Given the description of an element on the screen output the (x, y) to click on. 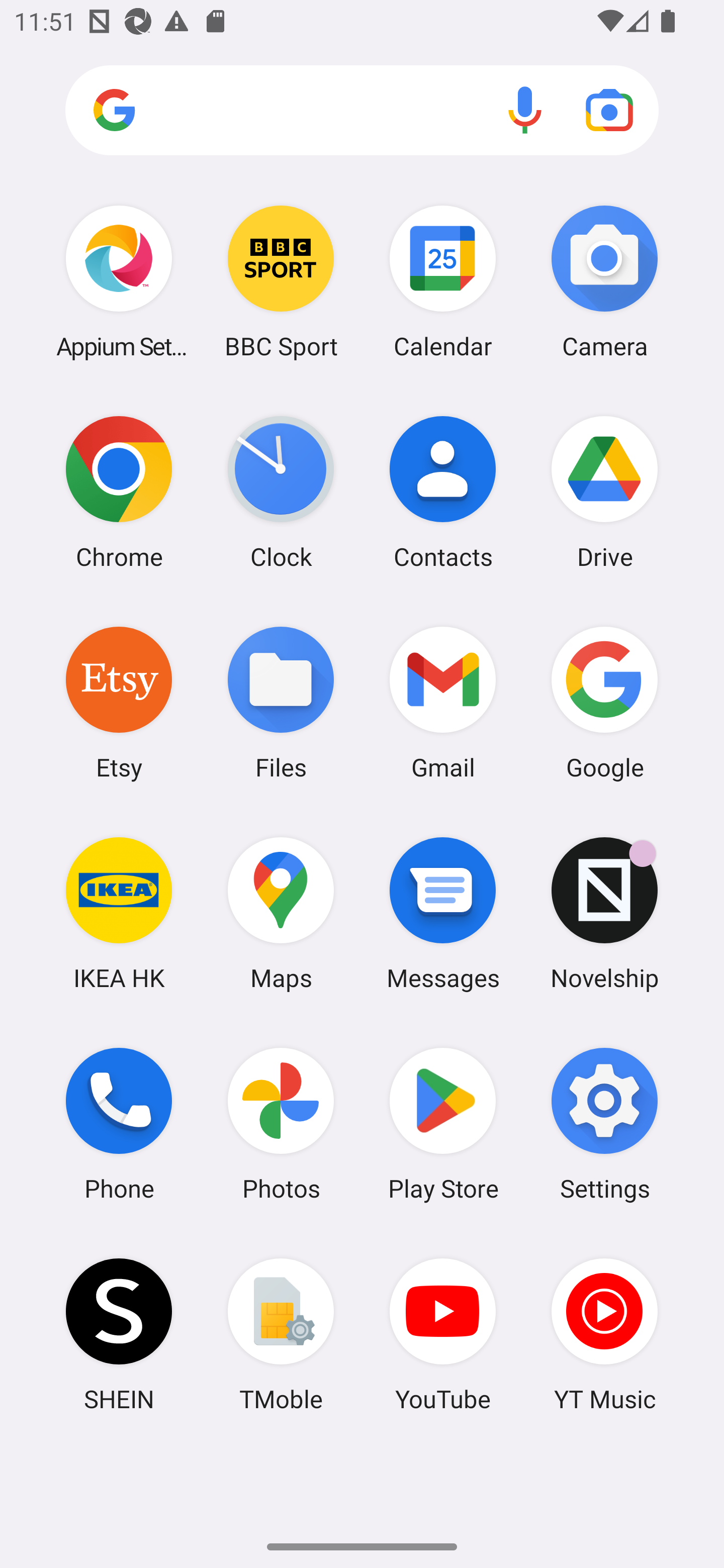
Search apps, web and more (361, 110)
Voice search (524, 109)
Google Lens (608, 109)
Appium Settings (118, 281)
BBC Sport (280, 281)
Calendar (443, 281)
Camera (604, 281)
Chrome (118, 492)
Clock (280, 492)
Contacts (443, 492)
Drive (604, 492)
Etsy (118, 702)
Files (280, 702)
Gmail (443, 702)
Google (604, 702)
IKEA HK (118, 913)
Maps (280, 913)
Messages (443, 913)
Novelship Novelship has 6 notifications (604, 913)
Phone (118, 1124)
Photos (280, 1124)
Play Store (443, 1124)
Settings (604, 1124)
SHEIN (118, 1334)
TMoble (280, 1334)
YouTube (443, 1334)
YT Music (604, 1334)
